Given the description of an element on the screen output the (x, y) to click on. 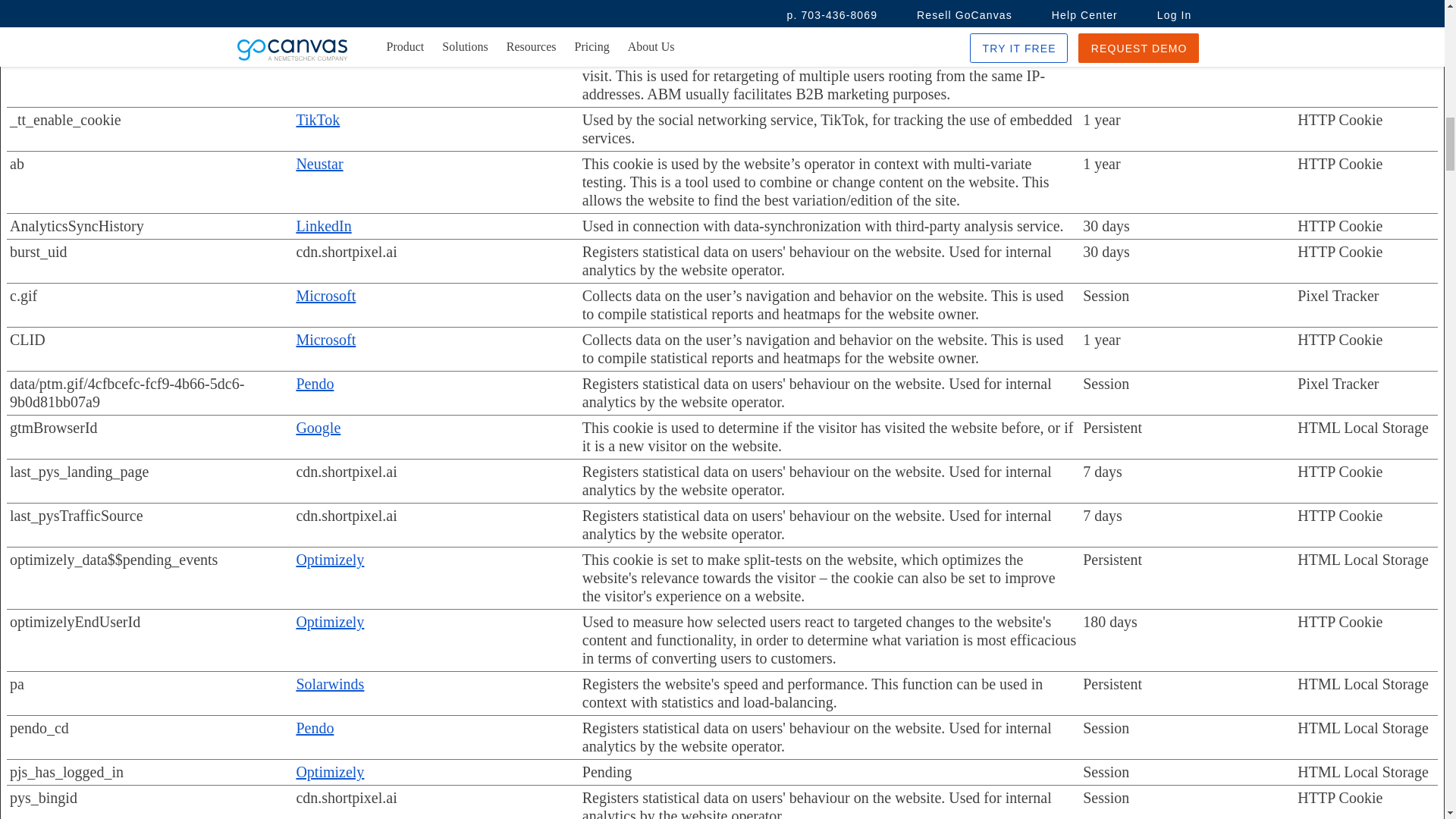
Optimizely (329, 621)
TikTok (317, 119)
LinkedIn (322, 225)
Optimizely (329, 559)
Pendo (314, 727)
Microsoft (325, 295)
Google (317, 427)
Solarwinds (329, 683)
Optimizely (329, 771)
Microsoft (325, 339)
